Given the description of an element on the screen output the (x, y) to click on. 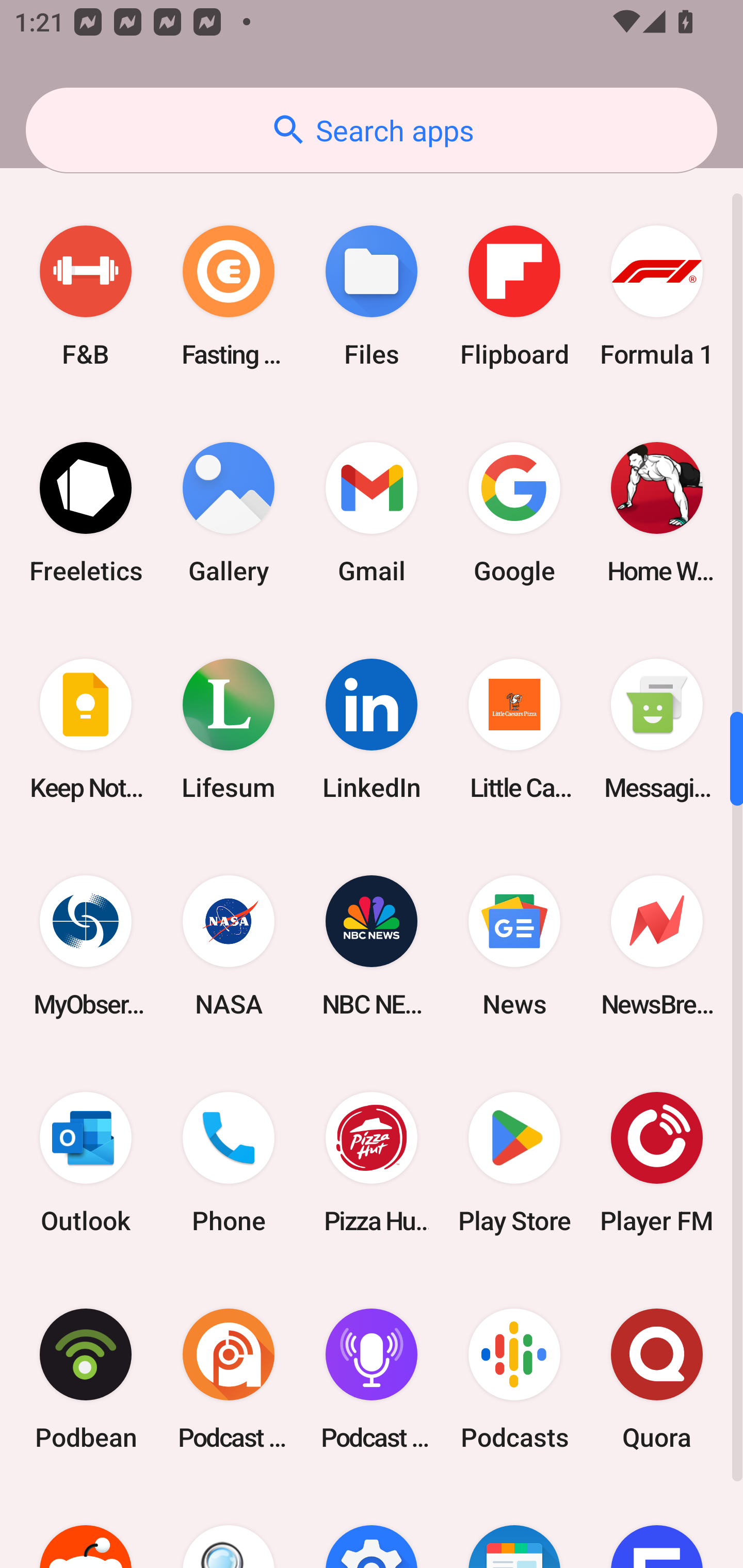
  Search apps (371, 130)
F&B (85, 296)
Fasting Coach (228, 296)
Files (371, 296)
Flipboard (514, 296)
Formula 1 (656, 296)
Freeletics (85, 512)
Gallery (228, 512)
Gmail (371, 512)
Google (514, 512)
Home Workout (656, 512)
Keep Notes (85, 728)
Lifesum (228, 728)
LinkedIn (371, 728)
Little Caesars Pizza (514, 728)
Messaging (656, 728)
MyObservatory (85, 945)
NASA (228, 945)
NBC NEWS (371, 945)
News (514, 945)
NewsBreak (656, 945)
Outlook (85, 1162)
Phone (228, 1162)
Pizza Hut HK & Macau (371, 1162)
Play Store (514, 1162)
Player FM (656, 1162)
Podbean (85, 1379)
Podcast Addict (228, 1379)
Podcast Player (371, 1379)
Podcasts (514, 1379)
Quora (656, 1379)
